Given the description of an element on the screen output the (x, y) to click on. 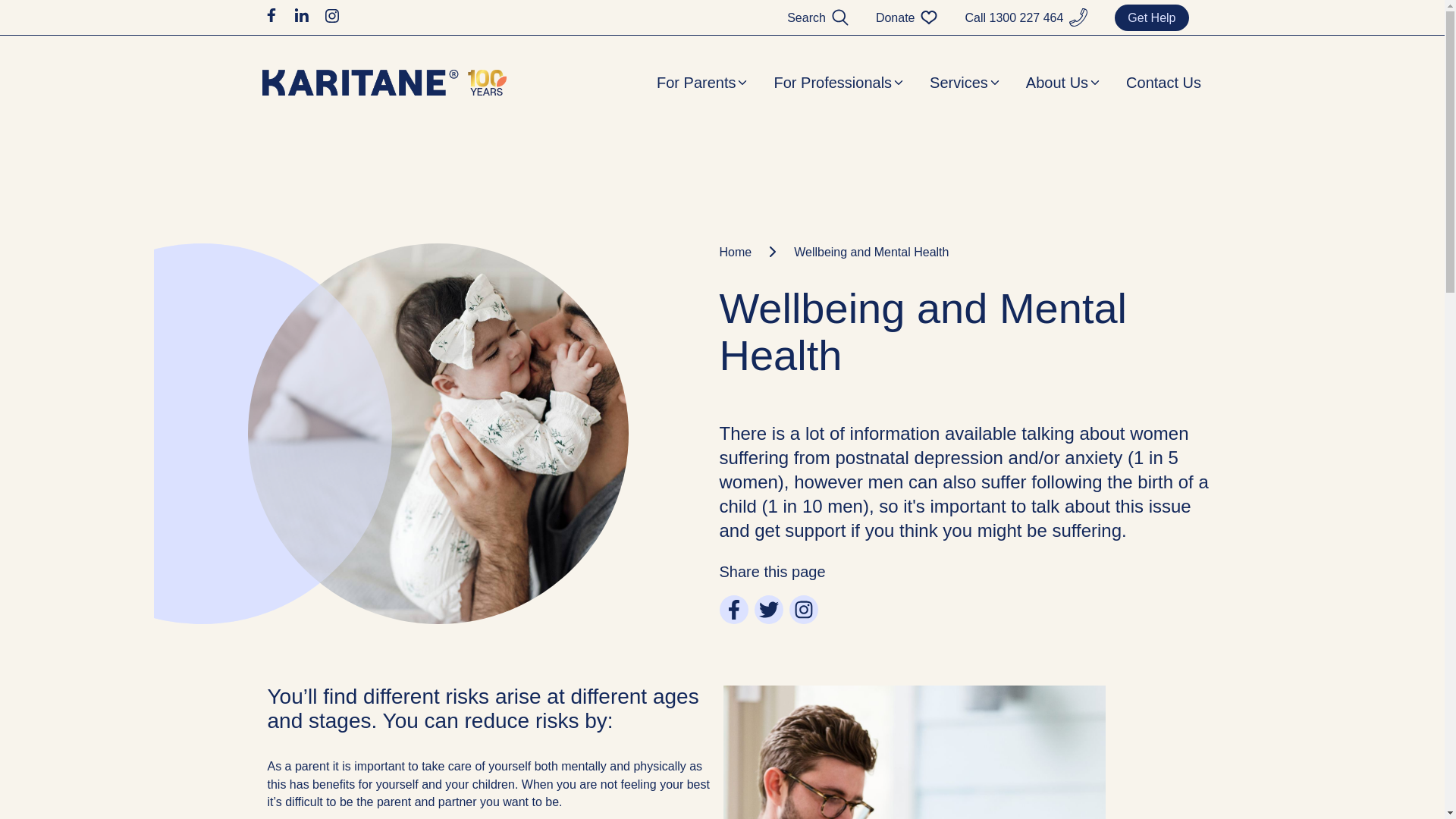
For Professionals Element type: text (839, 82)
About Us Element type: text (1063, 82)
Wellbeing and Mental Health Element type: text (870, 251)
Donate Element type: text (895, 17)
Services Element type: text (965, 82)
For Parents Element type: text (702, 82)
Home Element type: text (749, 251)
Get Help Element type: text (1151, 17)
Contact Us Element type: text (1163, 82)
Call 1300 227 464 Element type: text (1013, 17)
